Given the description of an element on the screen output the (x, y) to click on. 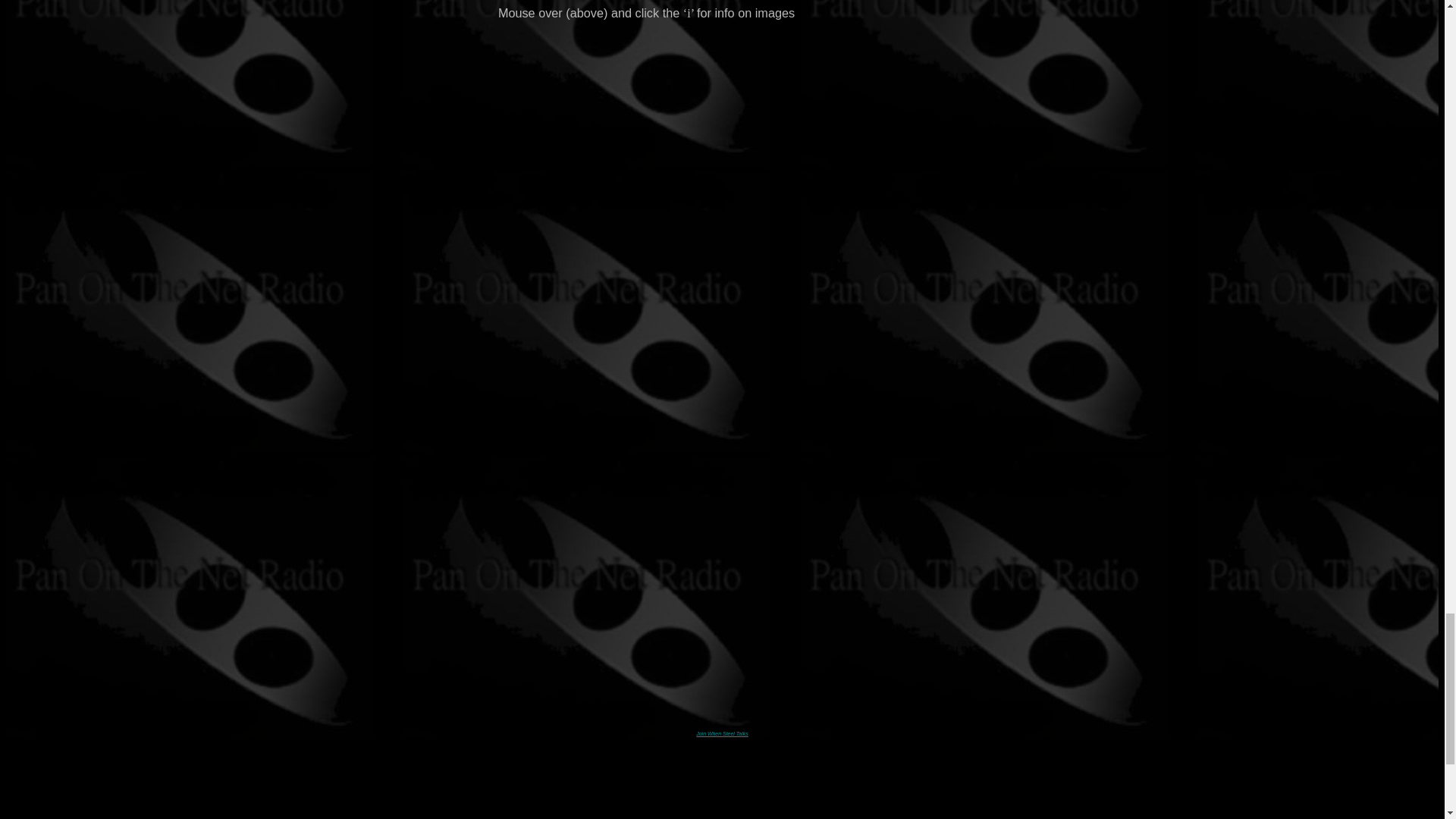
Join When Steel Talks (721, 733)
